Given the description of an element on the screen output the (x, y) to click on. 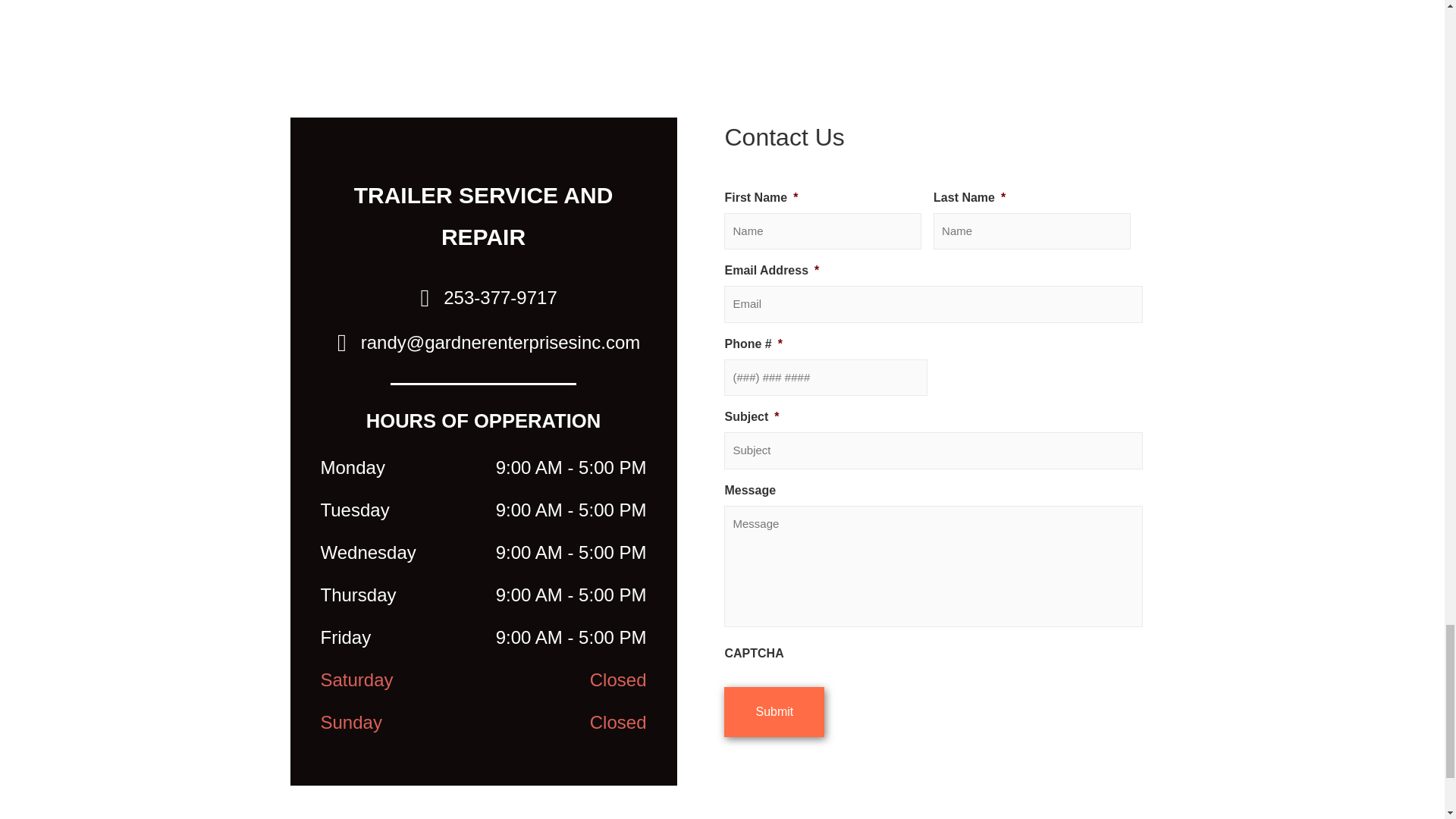
Submit (773, 712)
Submit (773, 712)
253-377-9717 (482, 298)
